Given the description of an element on the screen output the (x, y) to click on. 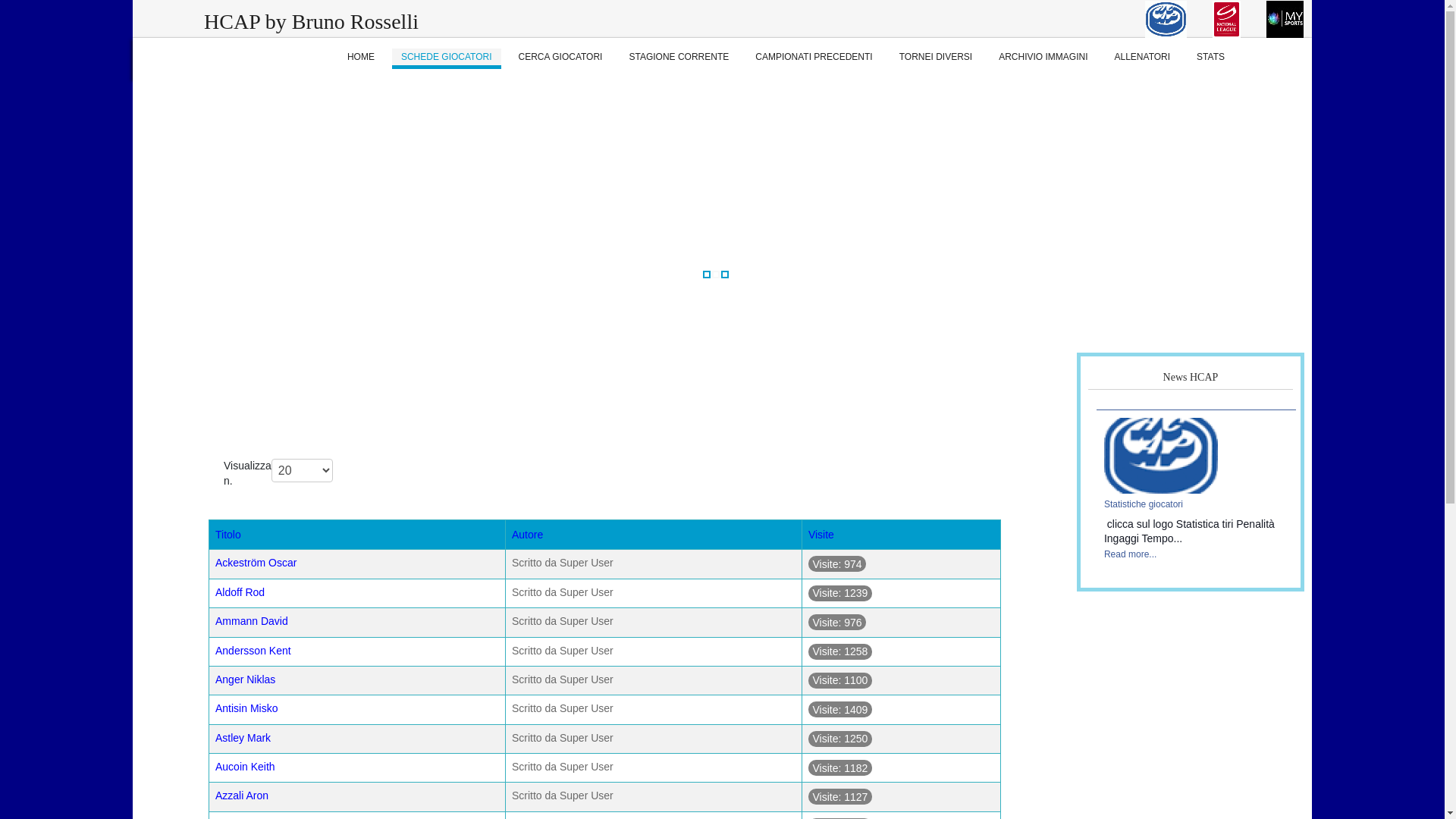
Andersson Kent Element type: text (253, 650)
Visite Element type: text (821, 534)
ARCHIVIO IMMAGINI Element type: text (1042, 58)
Aucoin Keith Element type: text (245, 766)
Statistiche giocatori Element type: hover (1160, 454)
Azzali Aron Element type: text (241, 795)
Statistiche giocatori Element type: text (1143, 503)
Astley Mark Element type: text (242, 737)
Aldoff Rod Element type: text (239, 592)
Statistiche giocatori Element type: hover (1160, 455)
Ammann David Element type: text (251, 621)
3 Element type: text (724, 274)
2 Element type: text (715, 274)
CAMPIONATI PRECEDENTI Element type: text (813, 58)
Autore Element type: text (526, 534)
ALLENATORI Element type: text (1142, 58)
Titolo Element type: text (228, 534)
Antisin Misko Element type: text (246, 708)
SCHEDE GIOCATORI Element type: text (446, 58)
CERCA GIOCATORI Element type: text (560, 58)
TORNEI DIVERSI Element type: text (935, 58)
STATS Element type: text (1210, 58)
HOME Element type: text (360, 58)
1 Element type: text (706, 274)
Anger Niklas Element type: text (245, 679)
STAGIONE CORRENTE Element type: text (678, 58)
Read more... Element type: text (1130, 554)
